Given the description of an element on the screen output the (x, y) to click on. 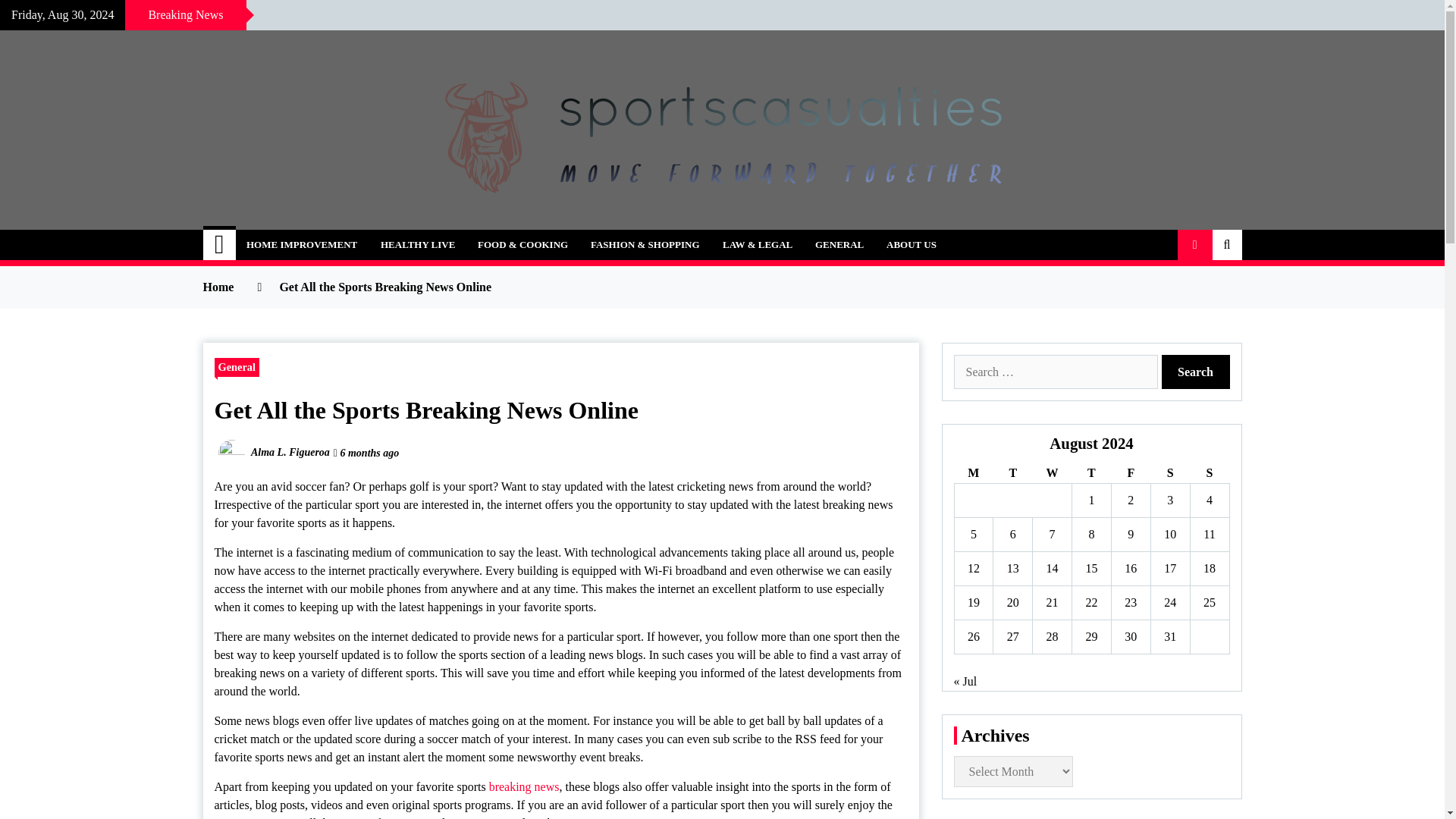
Saturday (1169, 473)
ABOUT US (911, 245)
Search (1195, 371)
sportscasualties (316, 236)
Search (1195, 371)
Thursday (1091, 473)
Monday (972, 473)
Tuesday (1012, 473)
Wednesday (1051, 473)
Friday (1130, 473)
